Given the description of an element on the screen output the (x, y) to click on. 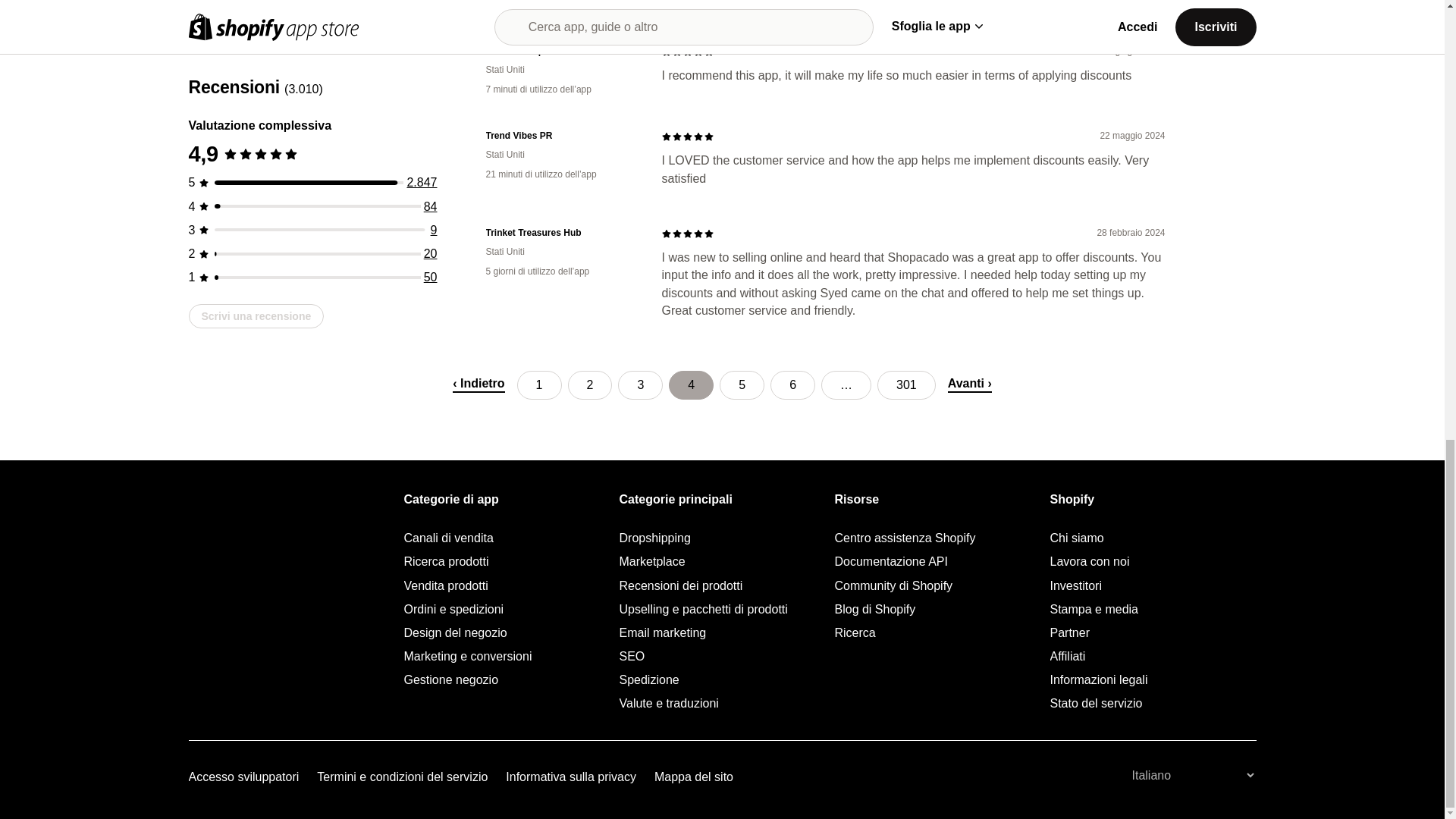
Trinket Treasures Hub (560, 232)
Trend Vibes PR (560, 135)
muareboutique (560, 51)
